Given the description of an element on the screen output the (x, y) to click on. 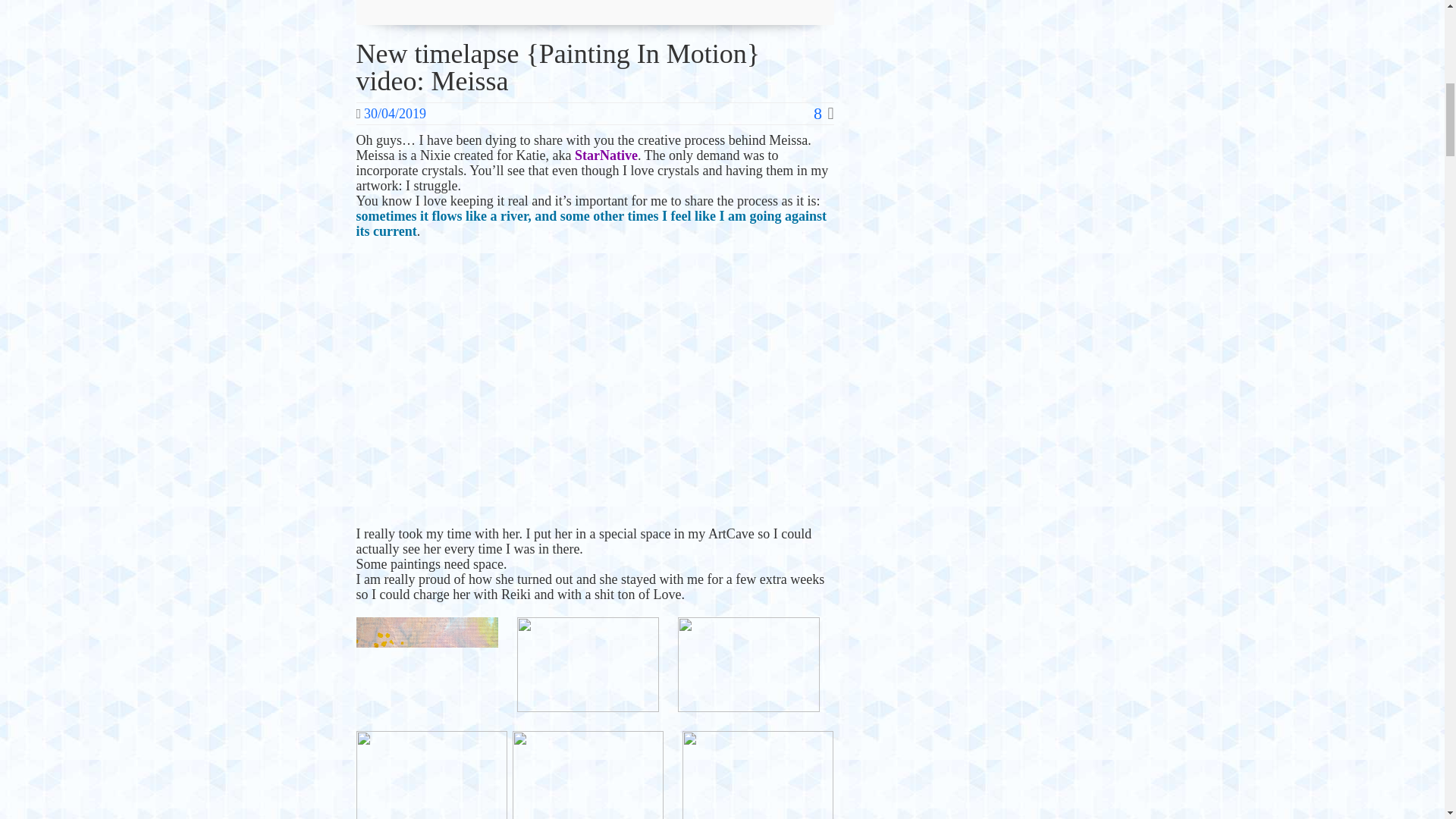
8 (823, 113)
Painting In Motion: mixed media portrait, Meissa (595, 387)
StarNative (606, 155)
